Given the description of an element on the screen output the (x, y) to click on. 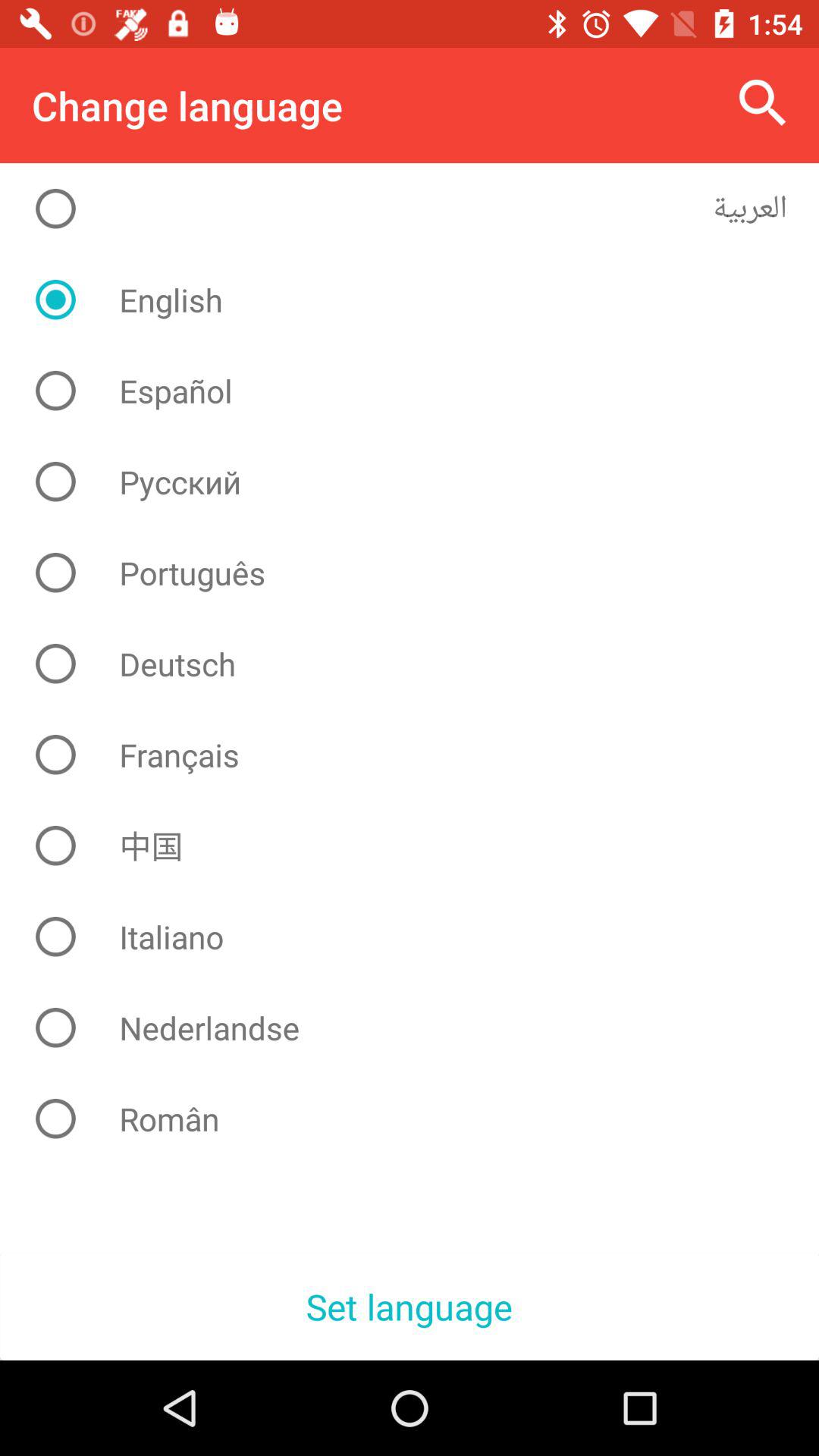
turn off the item to the right of the change language icon (763, 103)
